Given the description of an element on the screen output the (x, y) to click on. 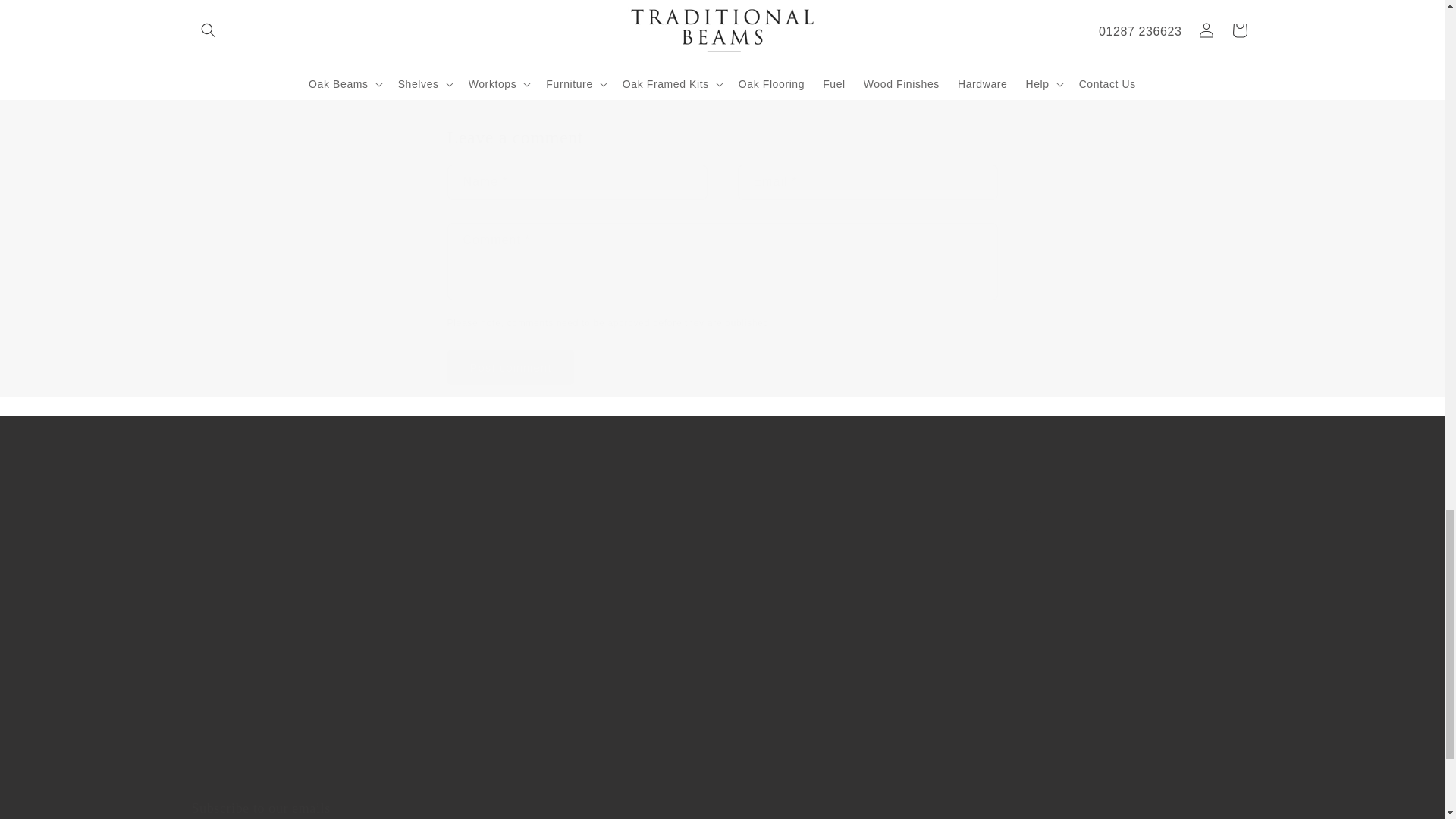
Post comment (510, 366)
tel:01287-236623 (957, 758)
